Given the description of an element on the screen output the (x, y) to click on. 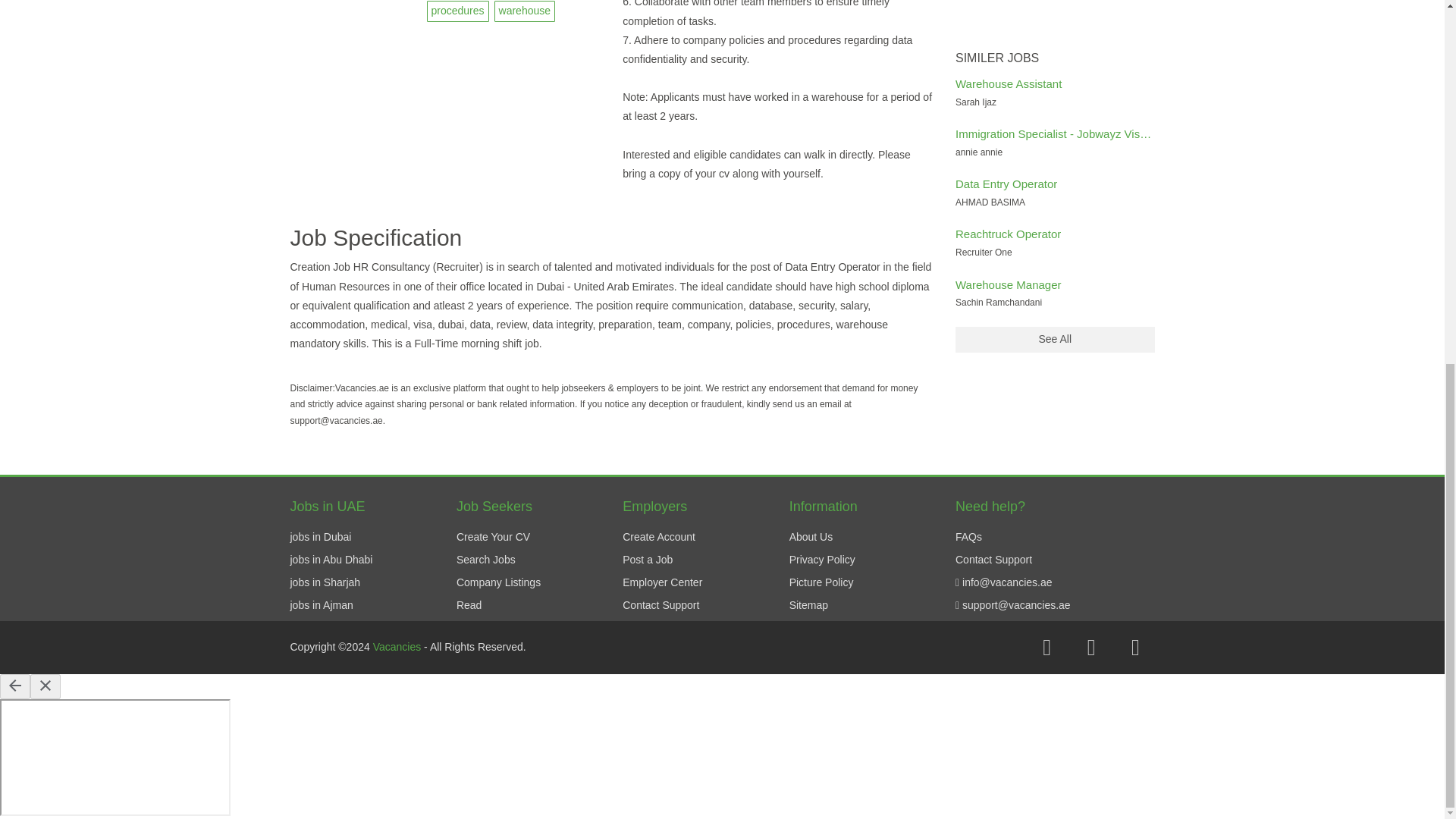
Create Account (659, 536)
Employer Center (662, 582)
jobs in Abu Dhabi (330, 559)
Follow vacancies on Facebook (1046, 647)
jobs in Ajman (320, 604)
Search Jobs (486, 559)
Advertisement (1054, 22)
Create Your CV (493, 536)
SIMILER JOBS (1054, 58)
Follow vacancies on Linkedin (1135, 647)
